Given the description of an element on the screen output the (x, y) to click on. 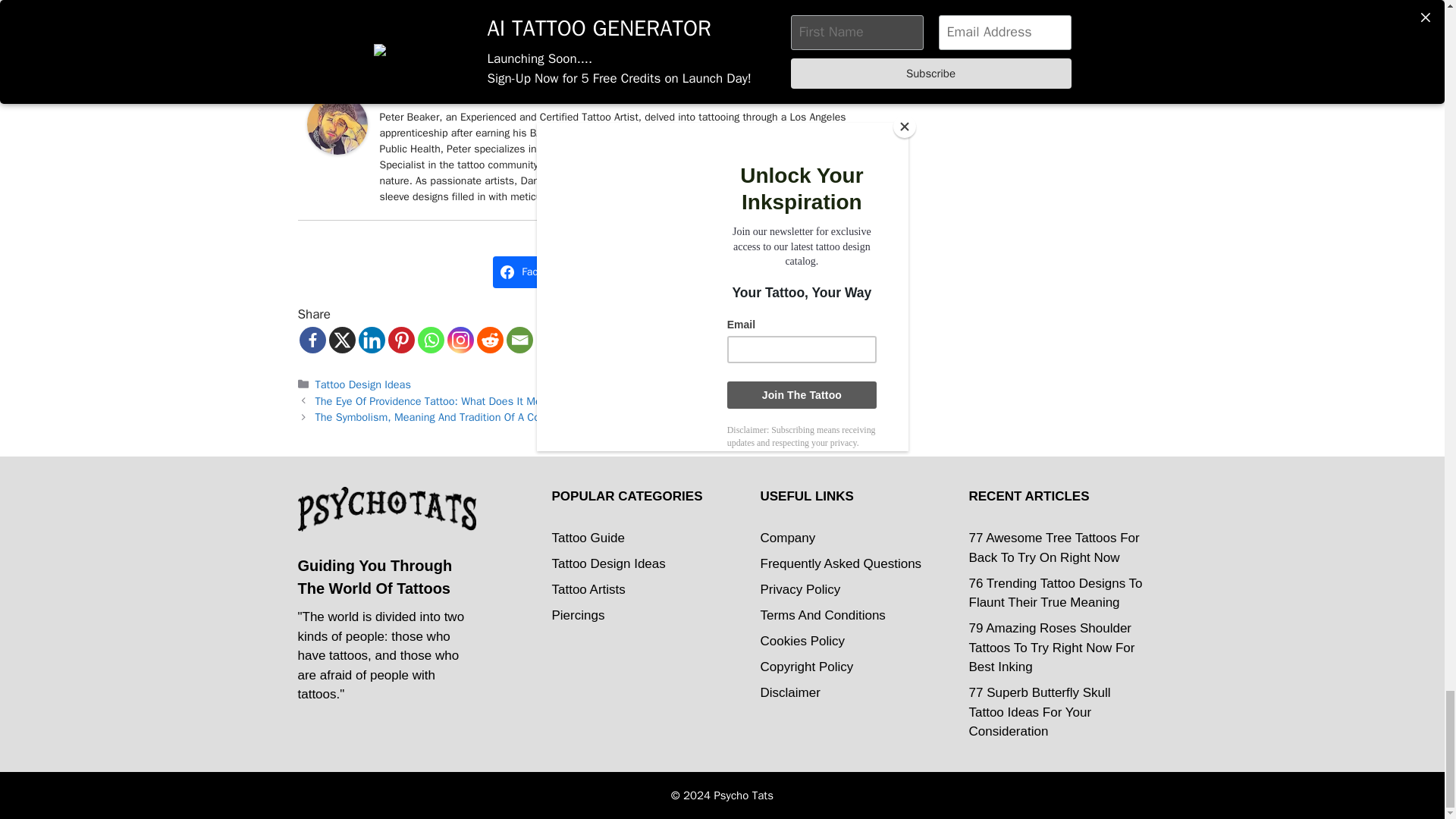
Share on Pinterest (621, 272)
Peter Beaker (335, 150)
Feather Tattoos Styles and Meaning (579, 15)
Share on Facebook (534, 272)
Facebook (311, 339)
